Given the description of an element on the screen output the (x, y) to click on. 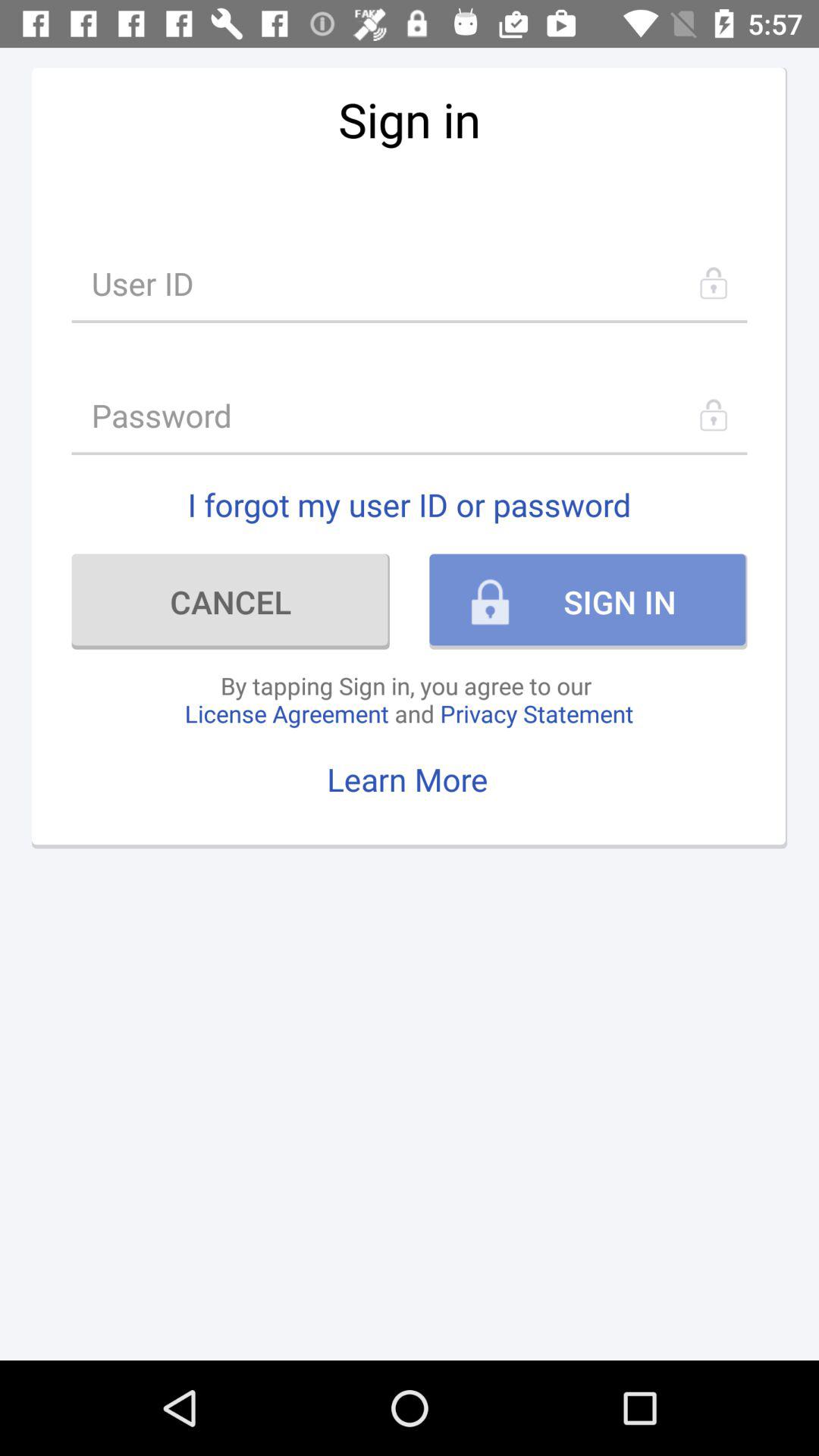
scroll to the by tapping sign icon (408, 699)
